Given the description of an element on the screen output the (x, y) to click on. 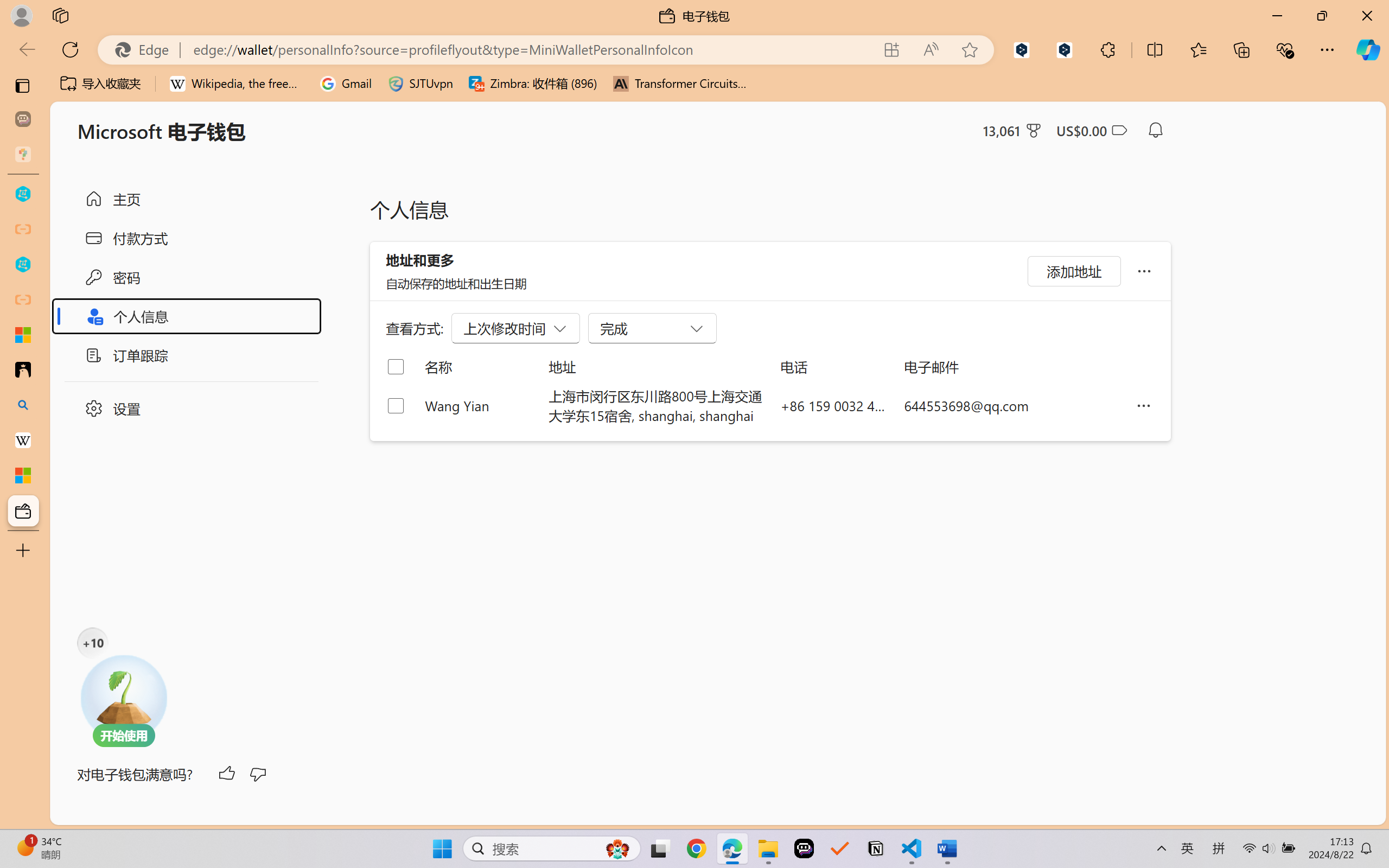
Copilot (Ctrl+Shift+.) (1368, 49)
Microsoft Cashback - US$0.00 (1090, 129)
